Given the description of an element on the screen output the (x, y) to click on. 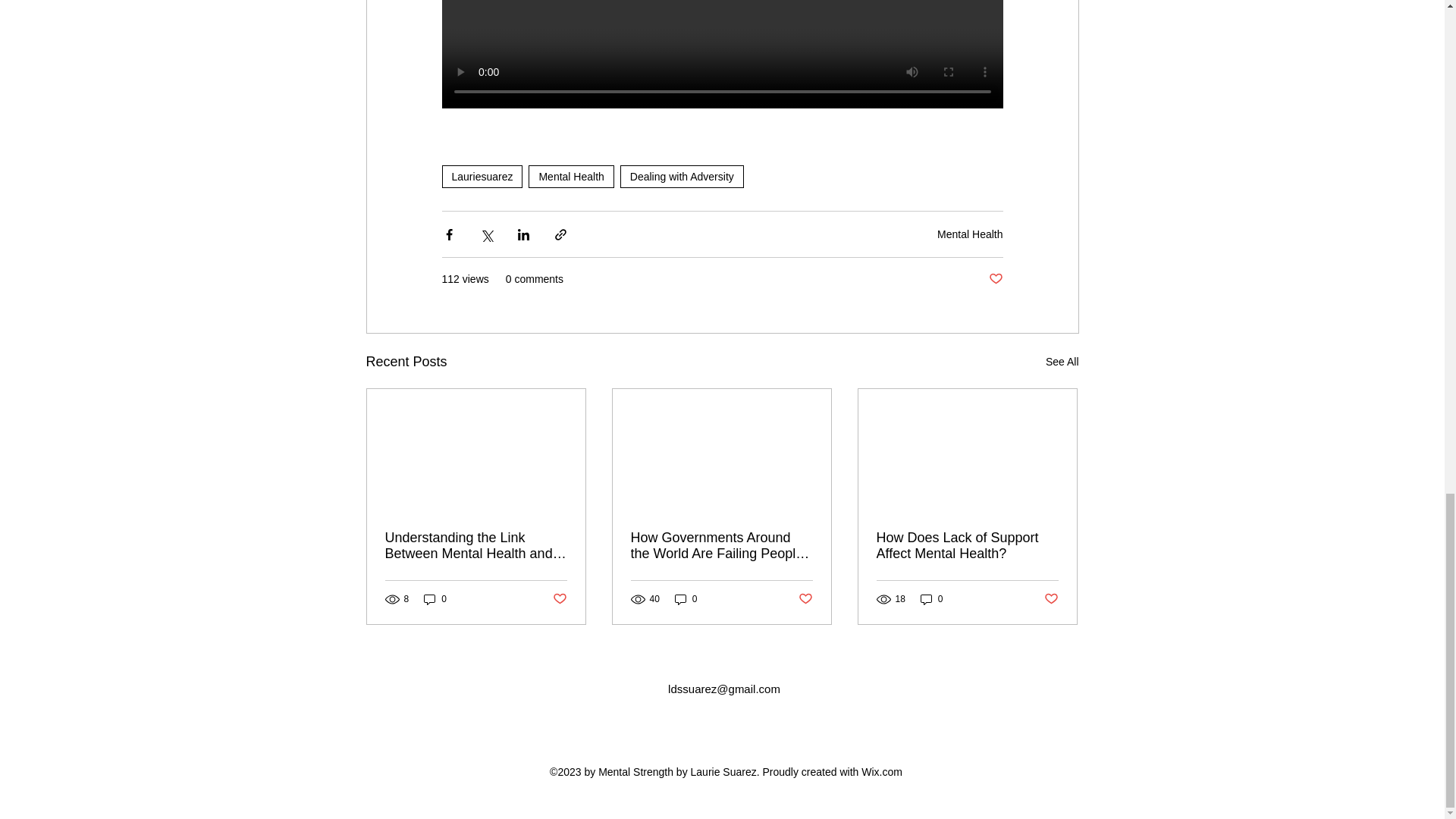
Dealing with Adversity (682, 176)
Mental Health (970, 234)
0 (435, 599)
Mental Health (570, 176)
Post not marked as liked (995, 279)
See All (1061, 362)
Post not marked as liked (558, 599)
Lauriesuarez (481, 176)
